Given the description of an element on the screen output the (x, y) to click on. 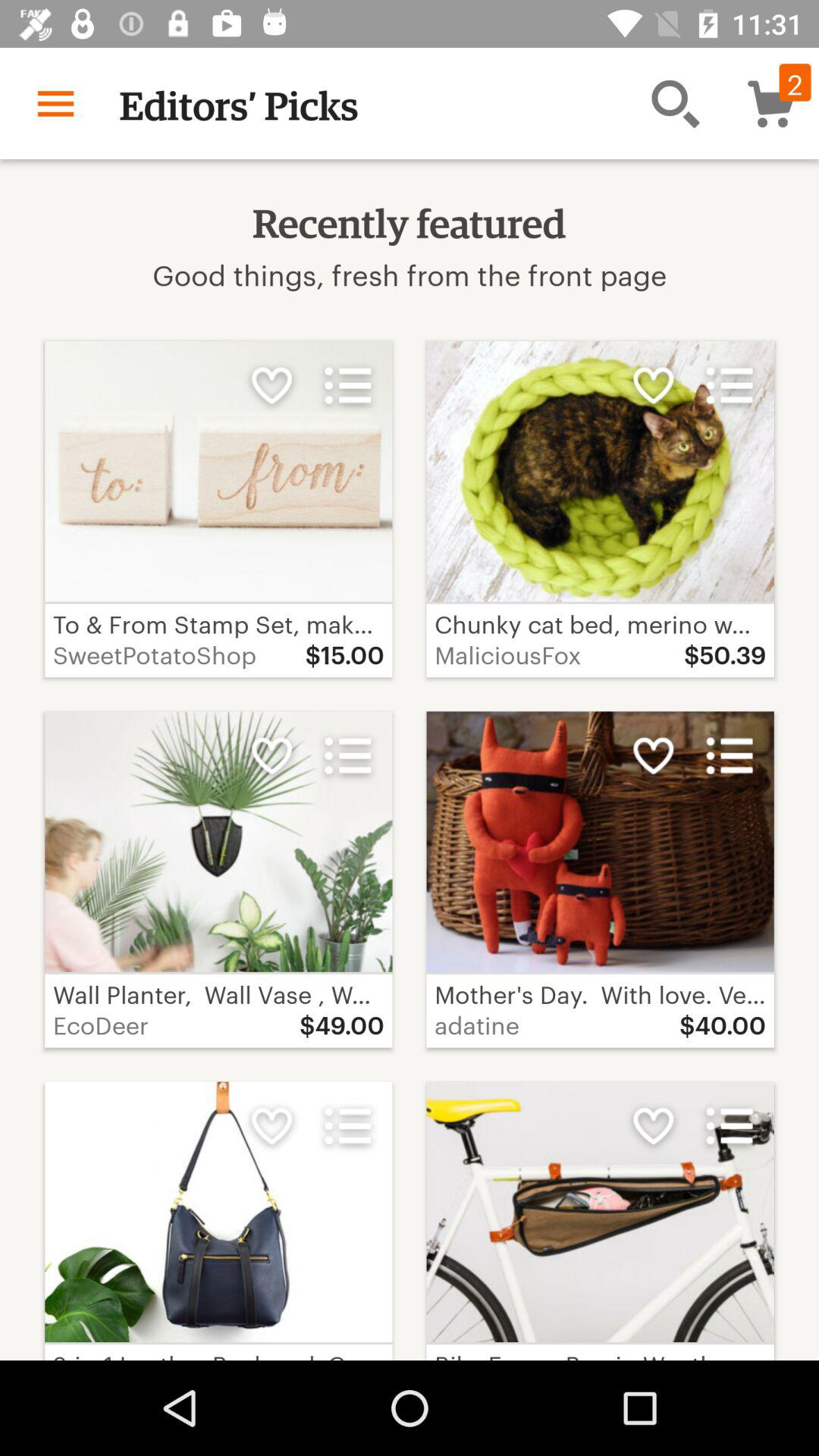
tap the item above good things fresh icon (675, 103)
